Given the description of an element on the screen output the (x, y) to click on. 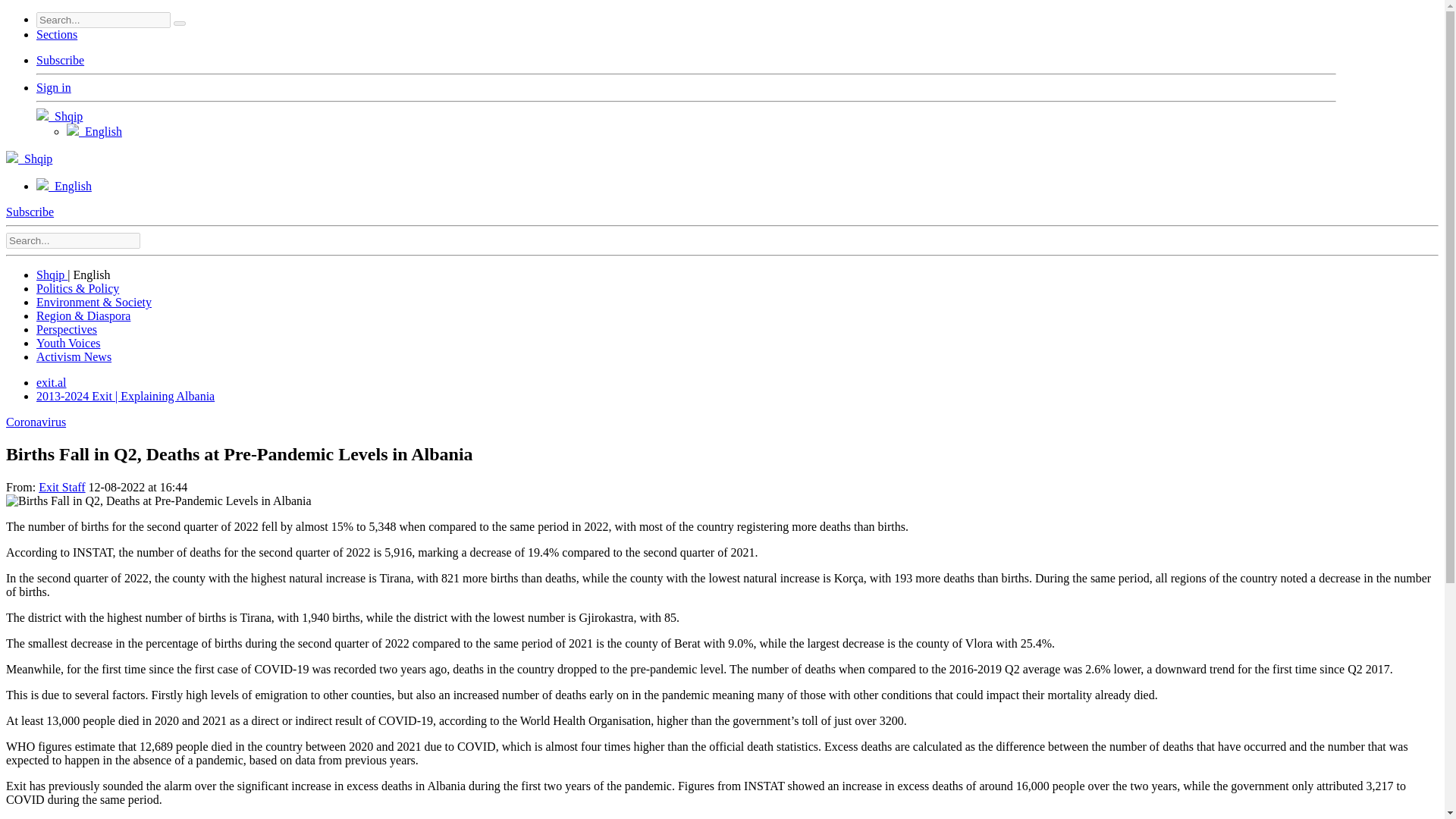
Shqip (51, 274)
Sections (56, 33)
  Shqip (59, 115)
Coronavirus (35, 421)
Sign in (53, 87)
  English (63, 185)
Youth Voices (68, 342)
  English (94, 131)
Activism News (74, 356)
exit.al (51, 382)
